Given the description of an element on the screen output the (x, y) to click on. 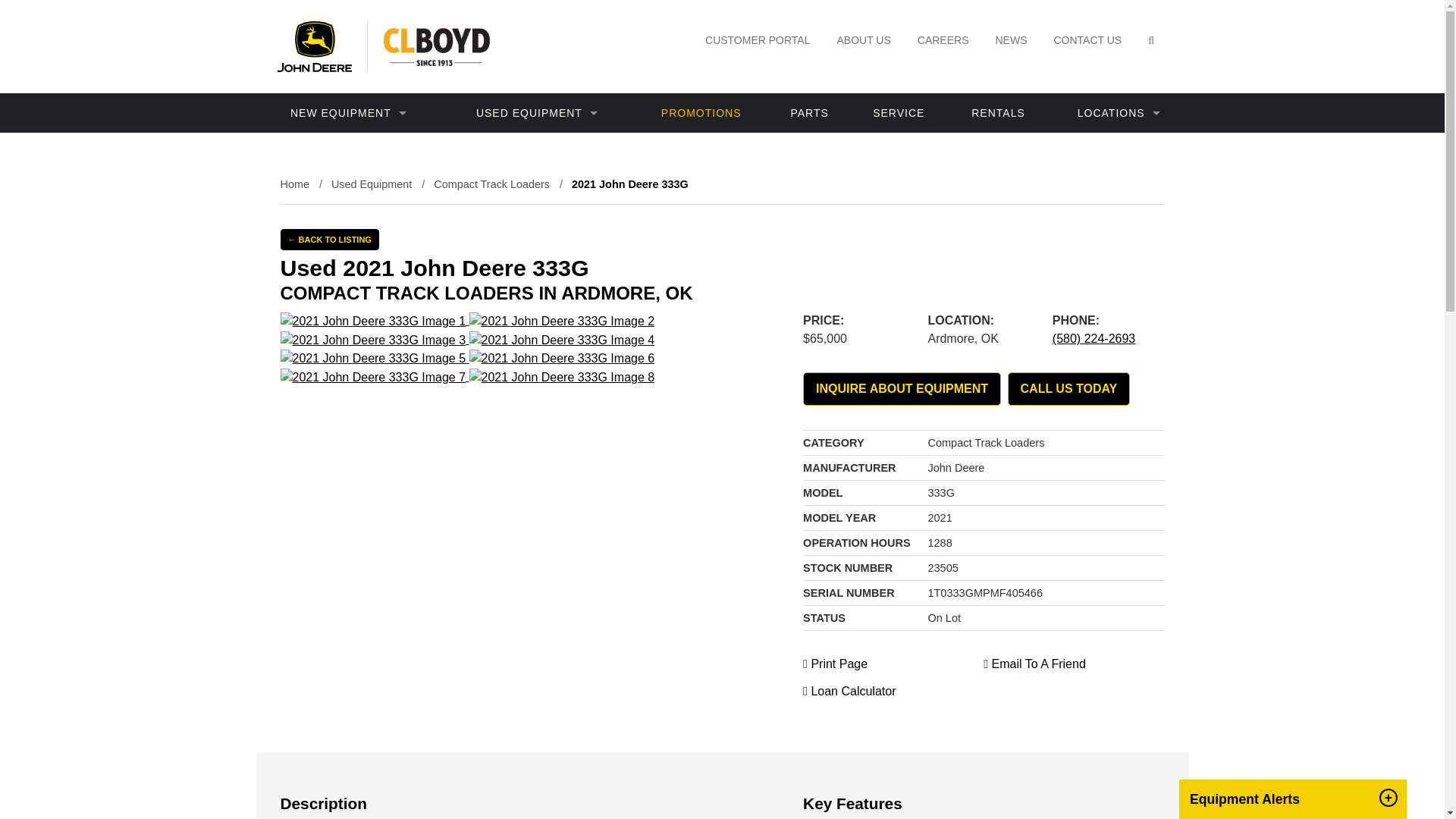
2021 John Deere 333G (561, 358)
2021 John Deere 333G (561, 340)
2021 John Deere 333G (561, 321)
2021 John Deere 333G (373, 377)
2021 John Deere 333G (373, 358)
2021 John Deere 333G (373, 321)
2021 John Deere 333G (373, 340)
2021 John Deere 333G (561, 377)
